Given the description of an element on the screen output the (x, y) to click on. 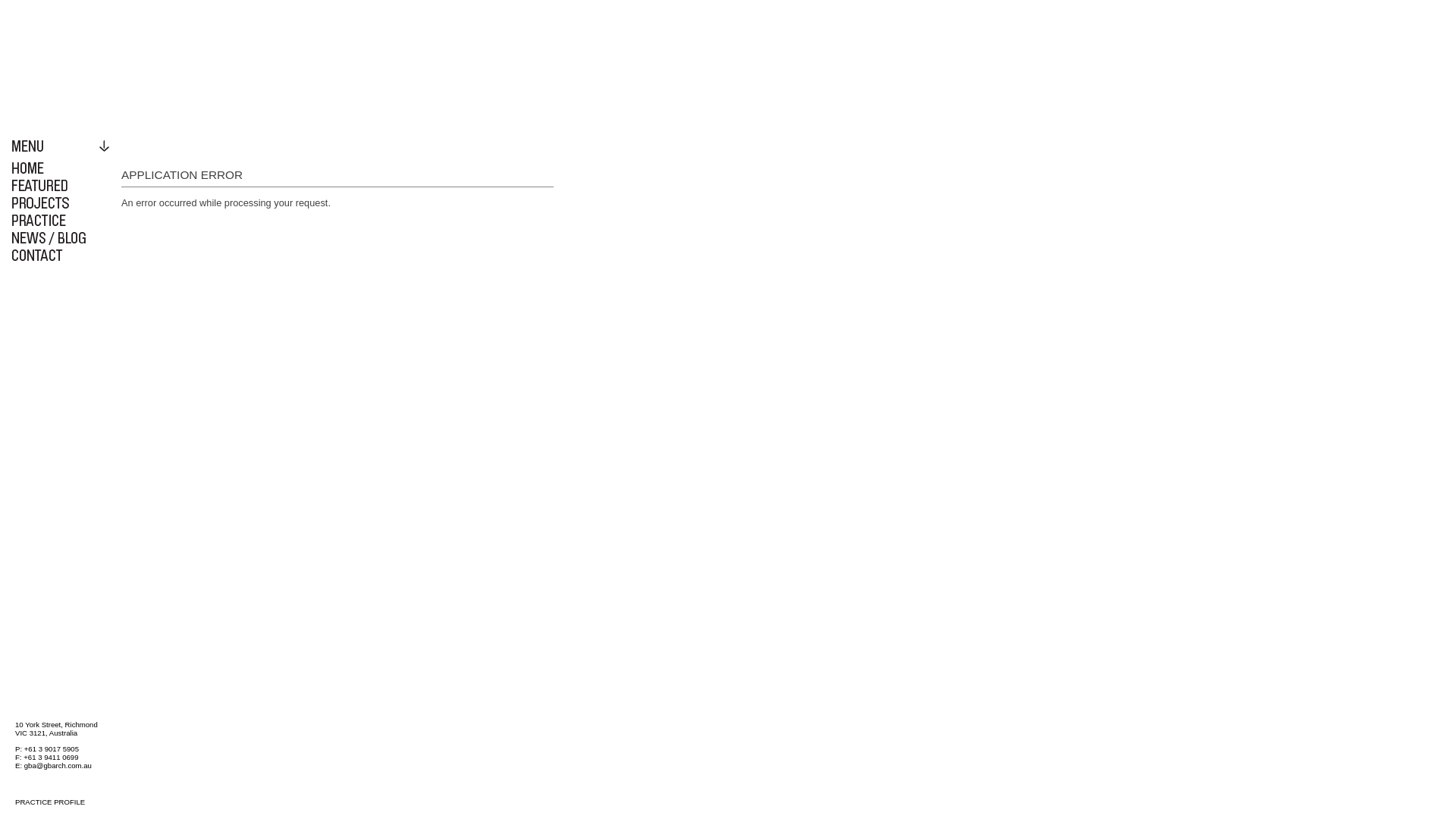
Gregory Burgess Architects Element type: text (113, 64)
gba@gbarch.com.au Element type: text (57, 765)
Featured Element type: text (60, 185)
PRACTICE PROFILE Element type: text (60, 801)
Home Element type: text (60, 167)
Contact Element type: text (60, 254)
Projects Element type: text (60, 202)
Practice Element type: text (60, 220)
News/Blog Element type: text (60, 237)
